Given the description of an element on the screen output the (x, y) to click on. 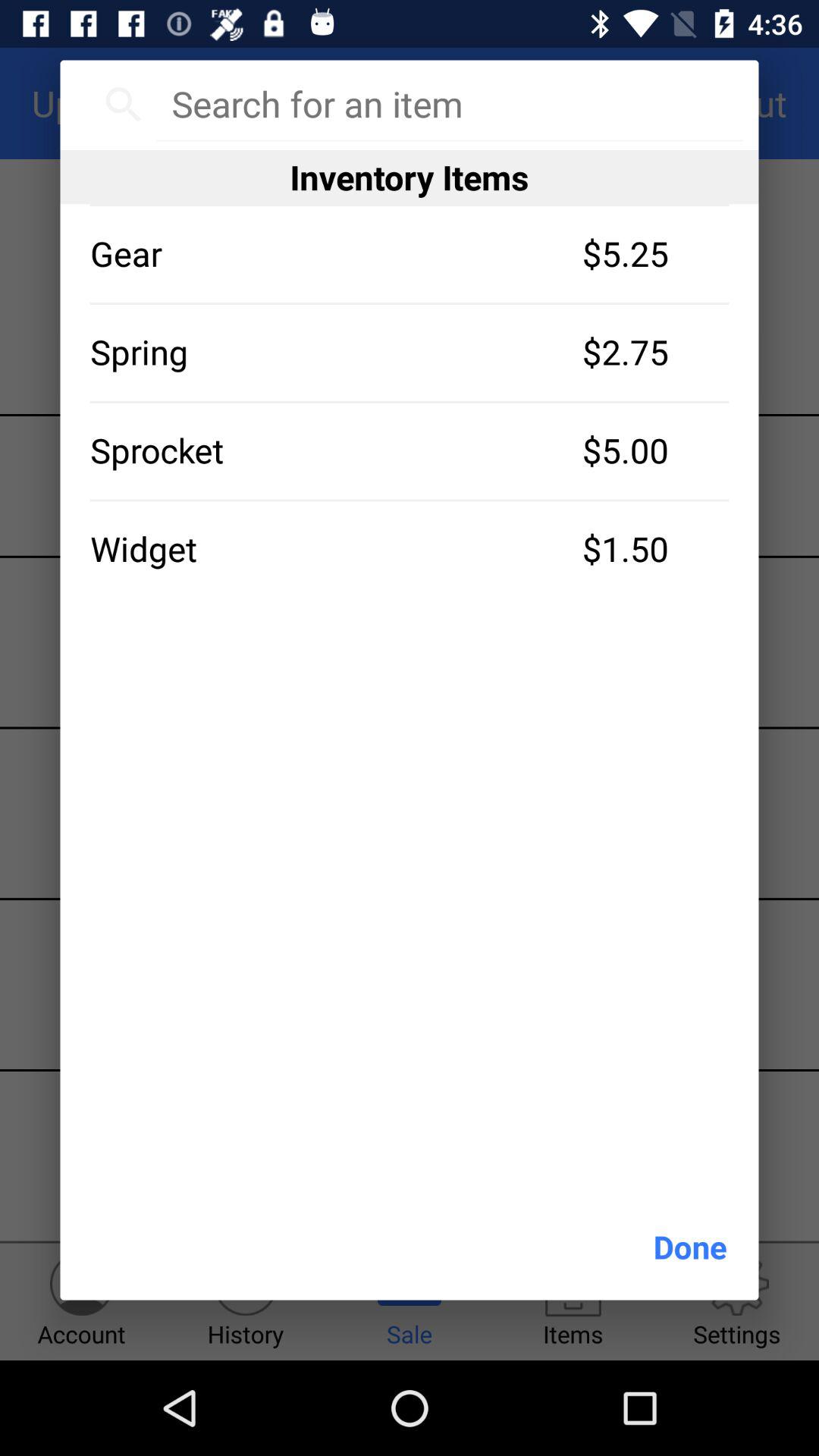
jump to the done icon (689, 1246)
